Given the description of an element on the screen output the (x, y) to click on. 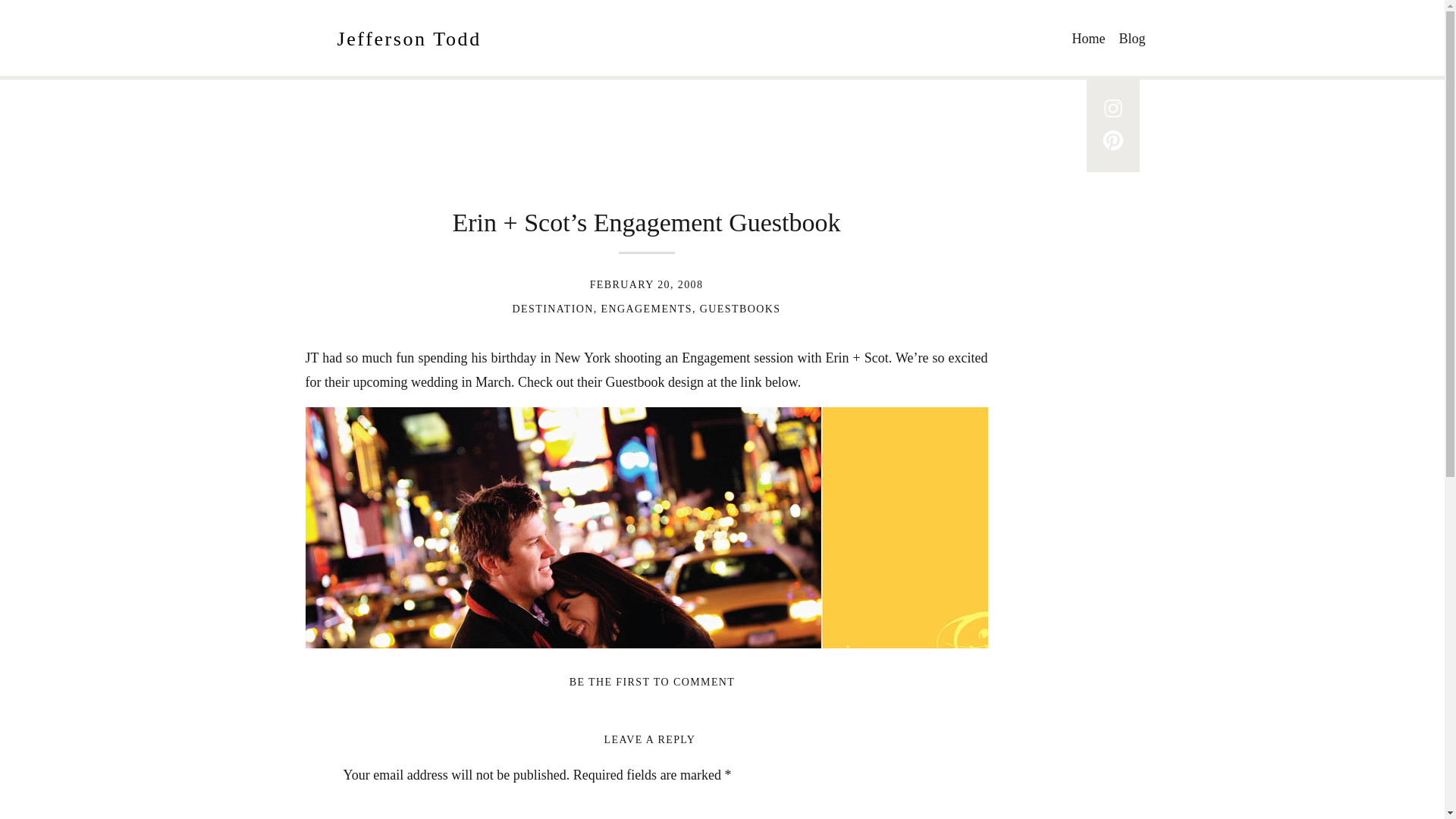
GUESTBOOKS (740, 308)
ENGAGEMENTS (647, 308)
DESTINATION (553, 308)
Blog (1133, 35)
Home (1091, 35)
BE THE FIRST TO COMMENT (652, 681)
